Given the description of an element on the screen output the (x, y) to click on. 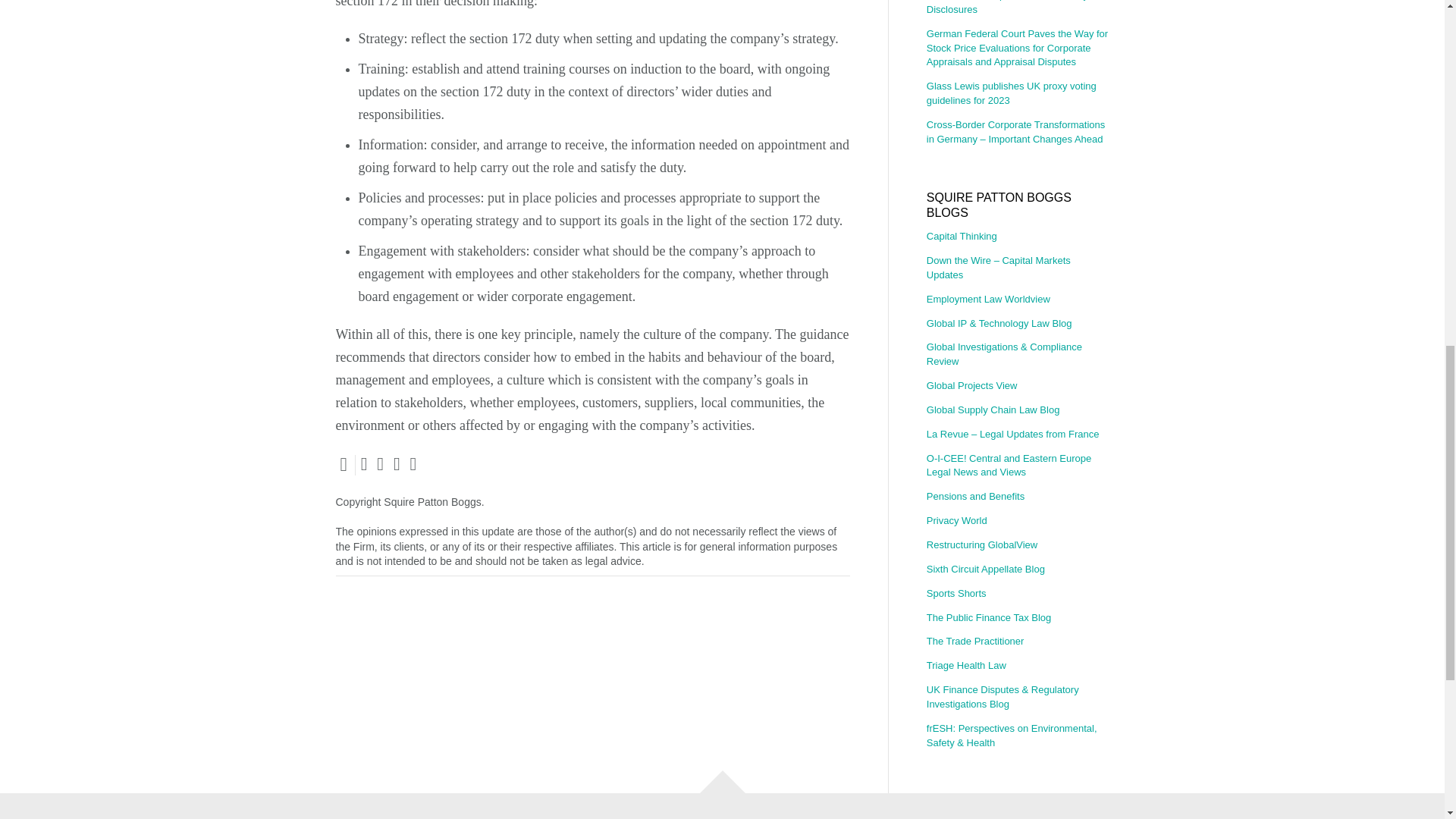
Privacy World (1017, 521)
Global Supply Chain Law Blog (1017, 410)
Glass Lewis publishes UK proxy voting guidelines for 2023 (1017, 94)
Employment Law Worldview (1017, 300)
Capital Thinking (1017, 239)
Pensions and Benefits (1017, 496)
O-I-CEE! Central and Eastern Europe Legal News and Views (1017, 466)
Global Projects View (1017, 386)
